Given the description of an element on the screen output the (x, y) to click on. 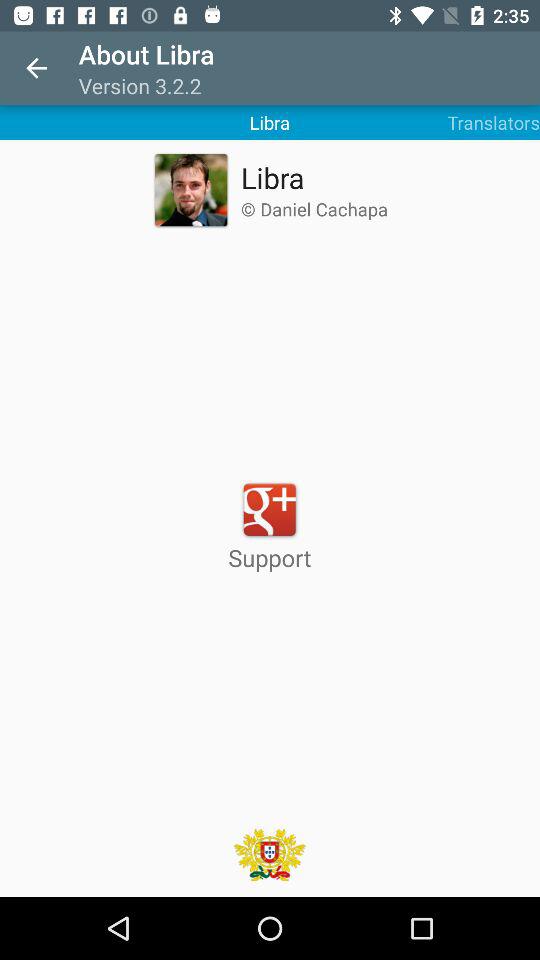
tap support button (269, 525)
